Given the description of an element on the screen output the (x, y) to click on. 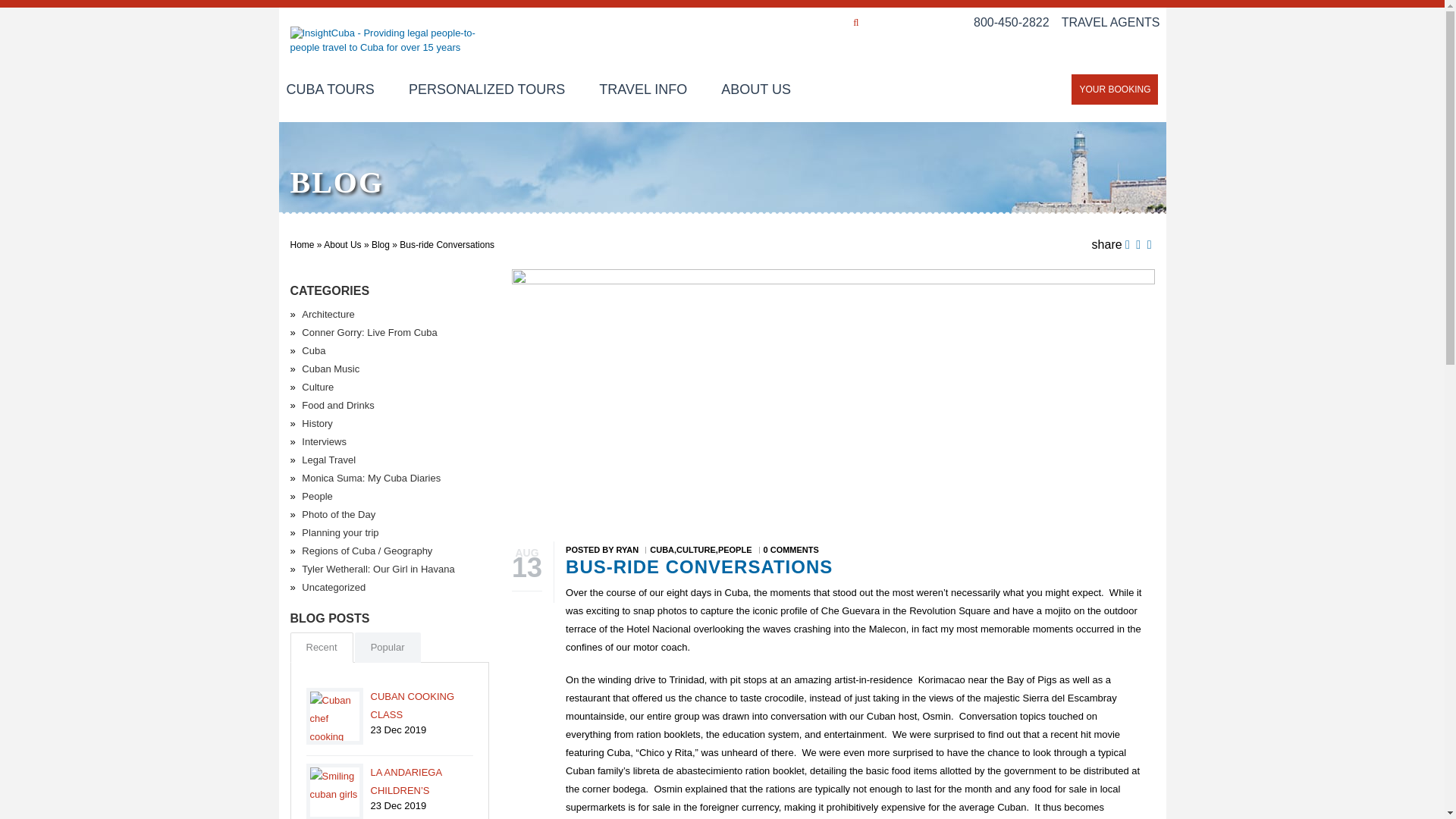
800-450-2822 (1011, 21)
TRAVEL AGENTS (1110, 21)
ABOUT US (756, 90)
PERSONALIZED TOURS (486, 90)
Smiling cuban girls (333, 791)
CUBA TOURS (338, 90)
Cuban chef cooking outdoors (333, 715)
TRAVEL INFO (642, 90)
